Given the description of an element on the screen output the (x, y) to click on. 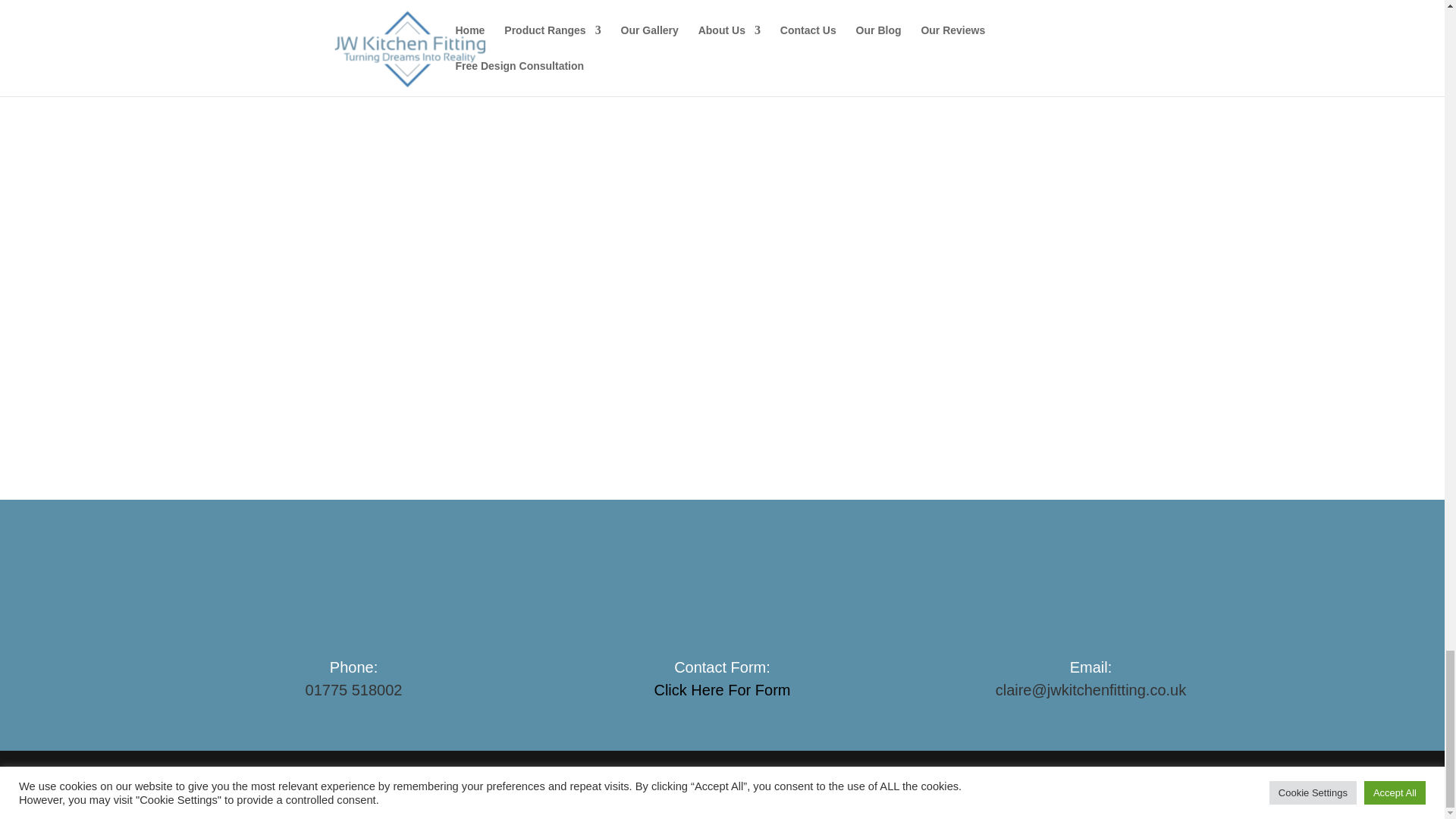
Follow on Facebook (288, 785)
